Given the description of an element on the screen output the (x, y) to click on. 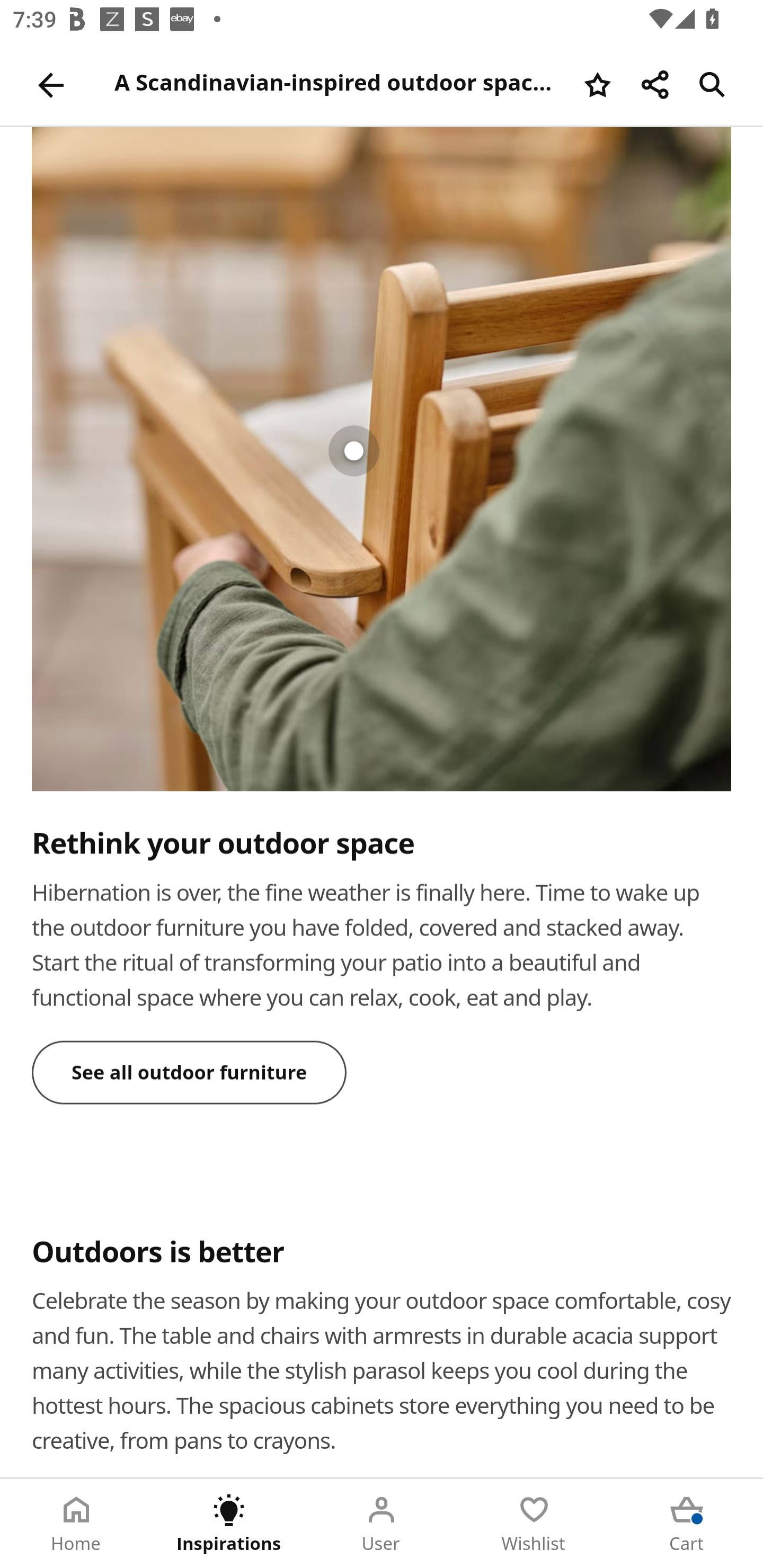
See all outdoor furniture (189, 1071)
Home
Tab 1 of 5 (76, 1522)
Inspirations
Tab 2 of 5 (228, 1522)
User
Tab 3 of 5 (381, 1522)
Wishlist
Tab 4 of 5 (533, 1522)
Cart
Tab 5 of 5 (686, 1522)
